Given the description of an element on the screen output the (x, y) to click on. 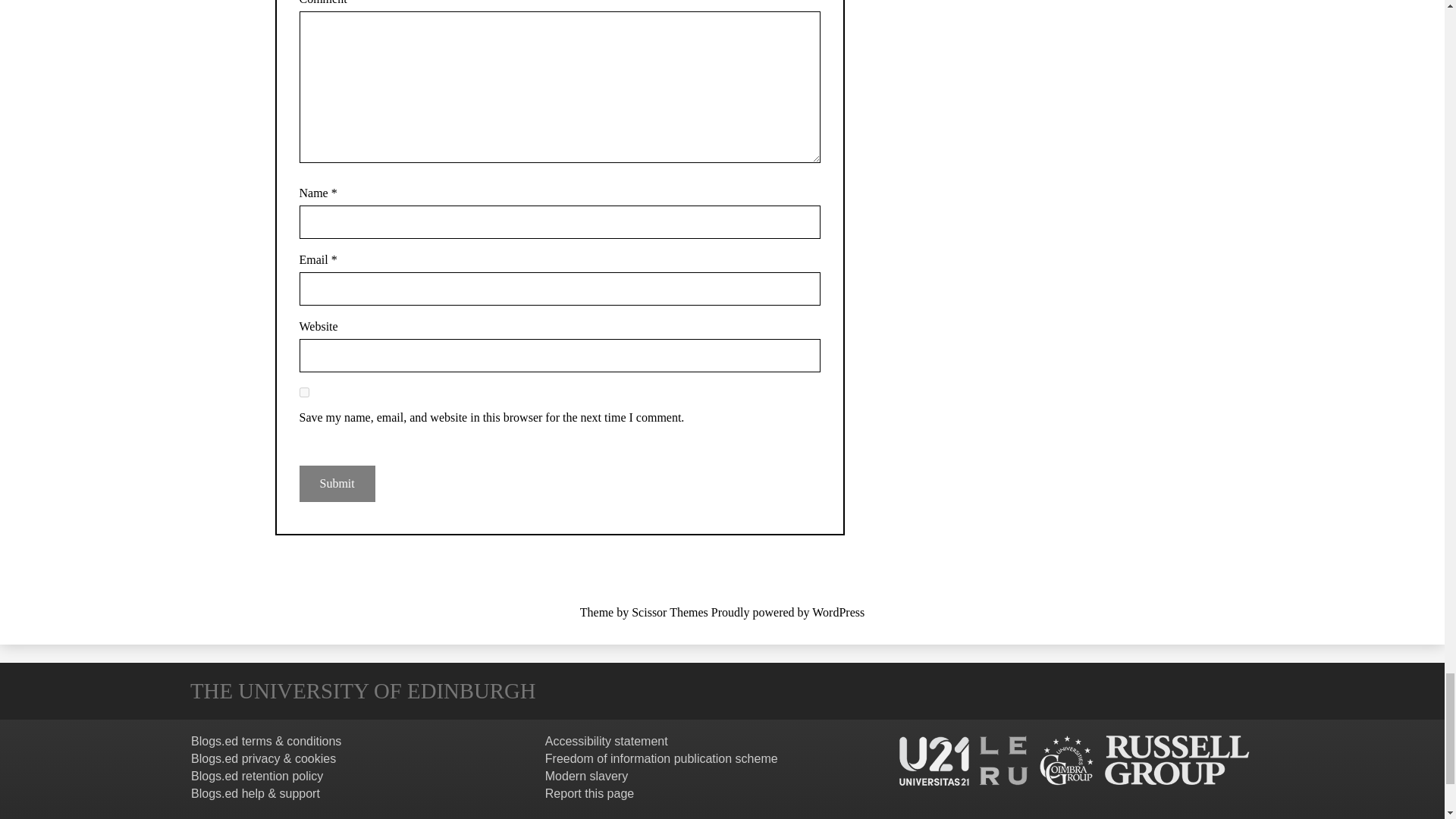
Submit (336, 484)
WordPress (838, 612)
Blogs.ed retention policy (256, 775)
Accessibility statement (606, 740)
Submit (336, 484)
Freedom of information publication scheme (660, 758)
Modern slavery (585, 775)
Scissor Themes (669, 612)
yes (303, 392)
